Given the description of an element on the screen output the (x, y) to click on. 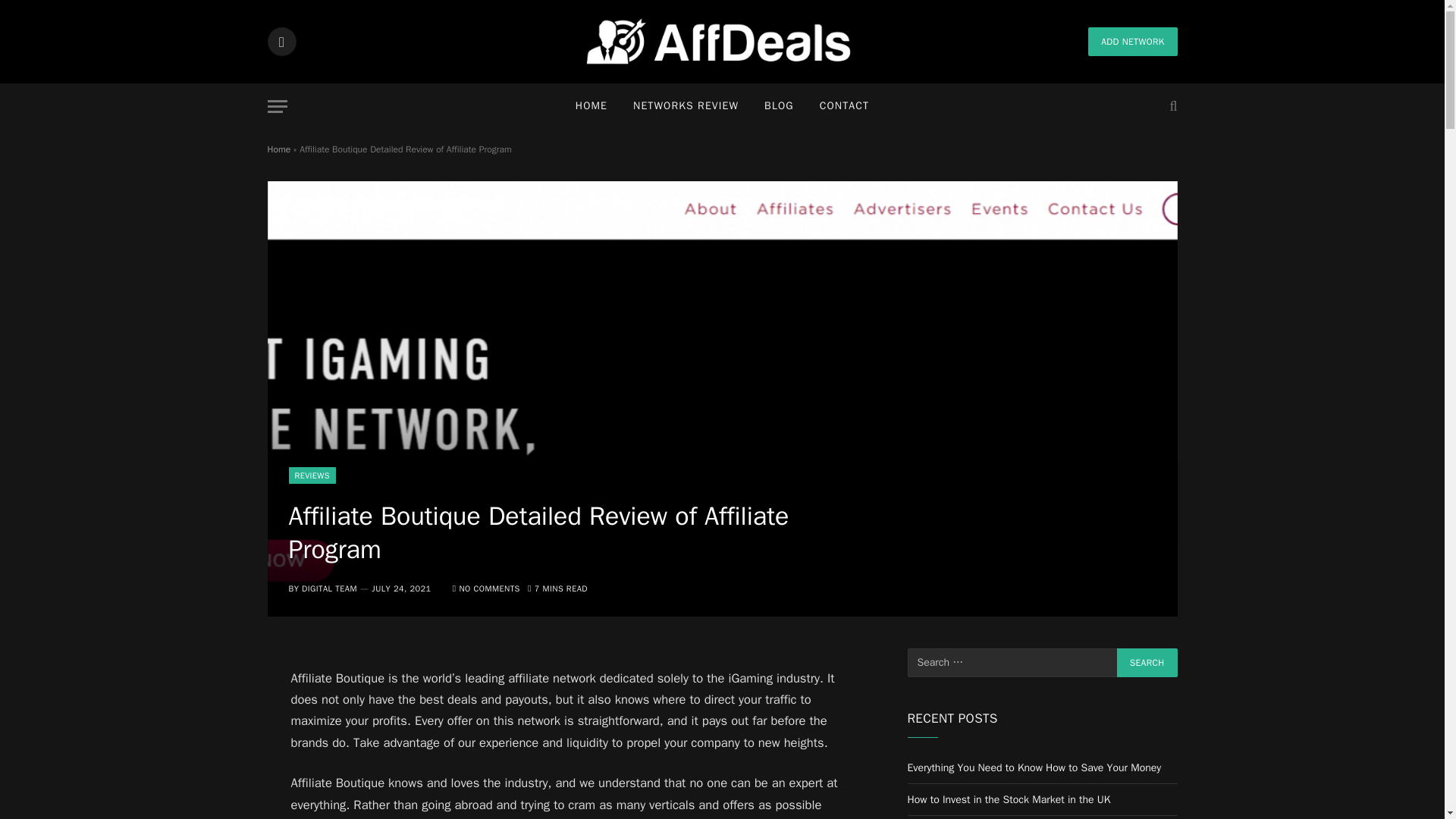
CONTACT (844, 105)
BLOG (778, 105)
Home (277, 149)
Posts by Digital Team (328, 588)
Search (1146, 662)
HOME (591, 105)
NETWORKS REVIEW (685, 105)
REVIEWS (311, 475)
Search (1146, 662)
ADD NETWORK (1131, 41)
NO COMMENTS (485, 588)
Facebook (280, 41)
DIGITAL TEAM (328, 588)
